Given the description of an element on the screen output the (x, y) to click on. 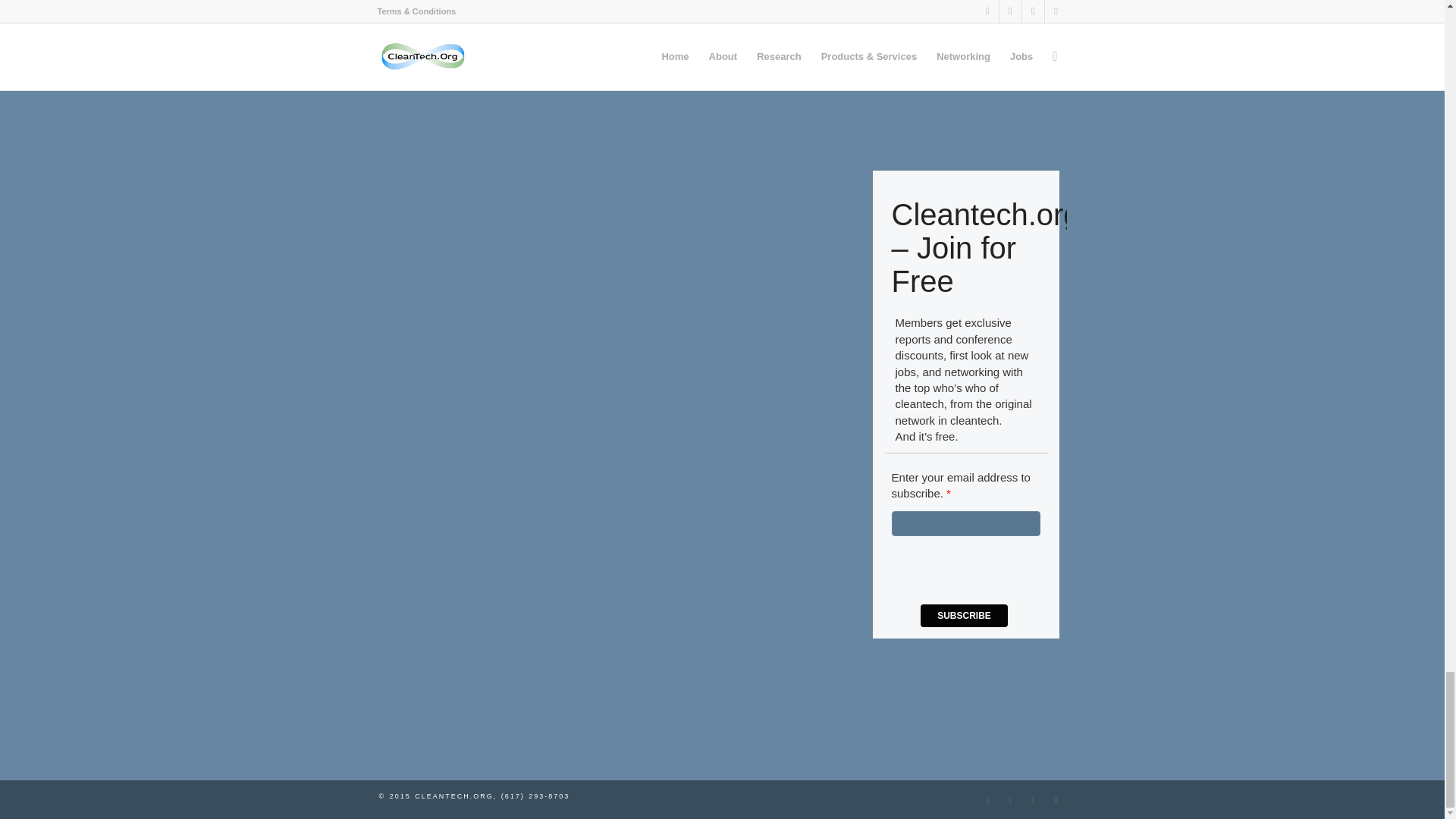
Twitter (1010, 799)
Facebook (1033, 799)
Linkedin (987, 799)
Submit (896, 9)
Reddit (1056, 799)
